Given the description of an element on the screen output the (x, y) to click on. 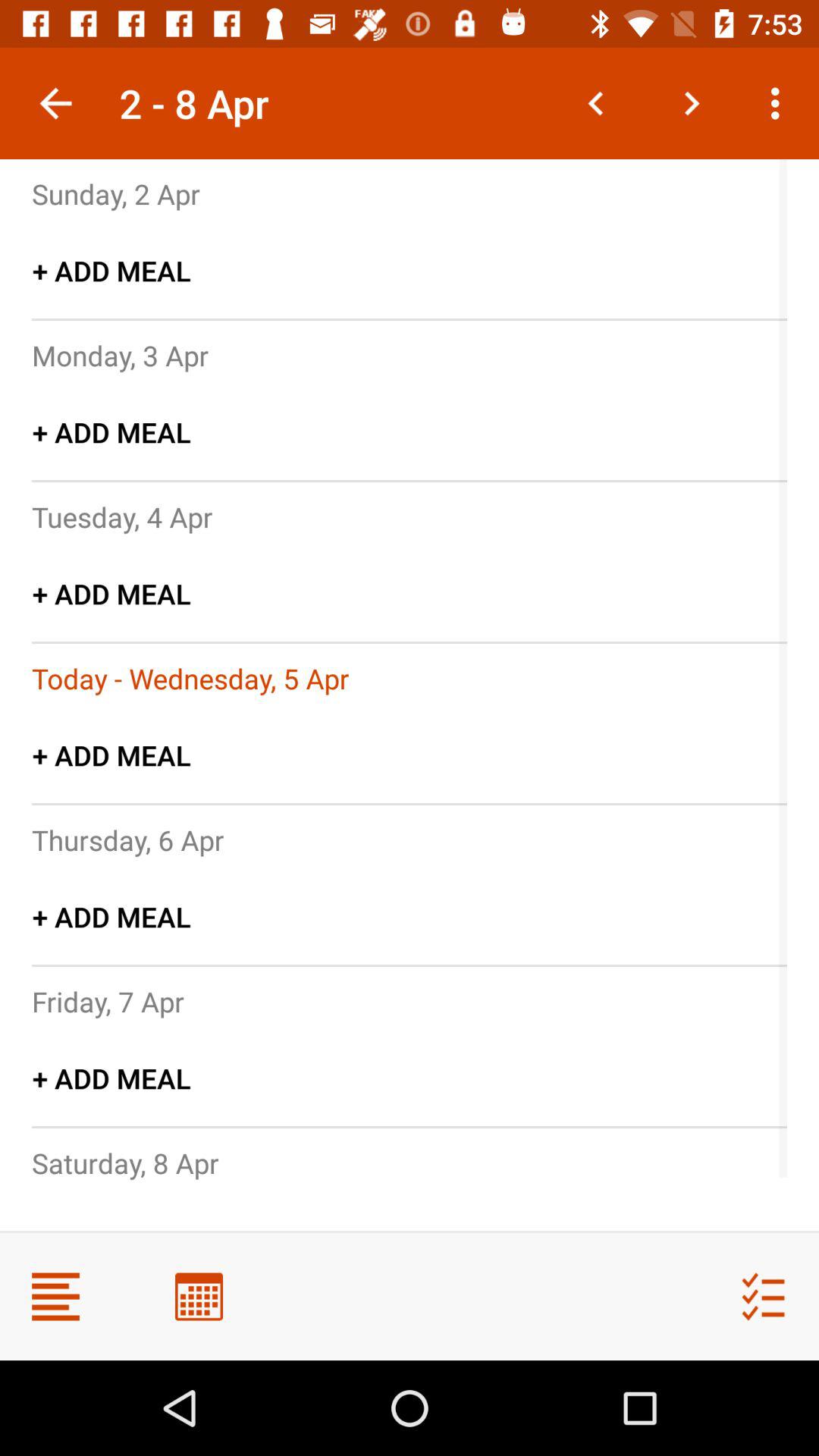
select today wednesday 5 item (190, 678)
